Given the description of an element on the screen output the (x, y) to click on. 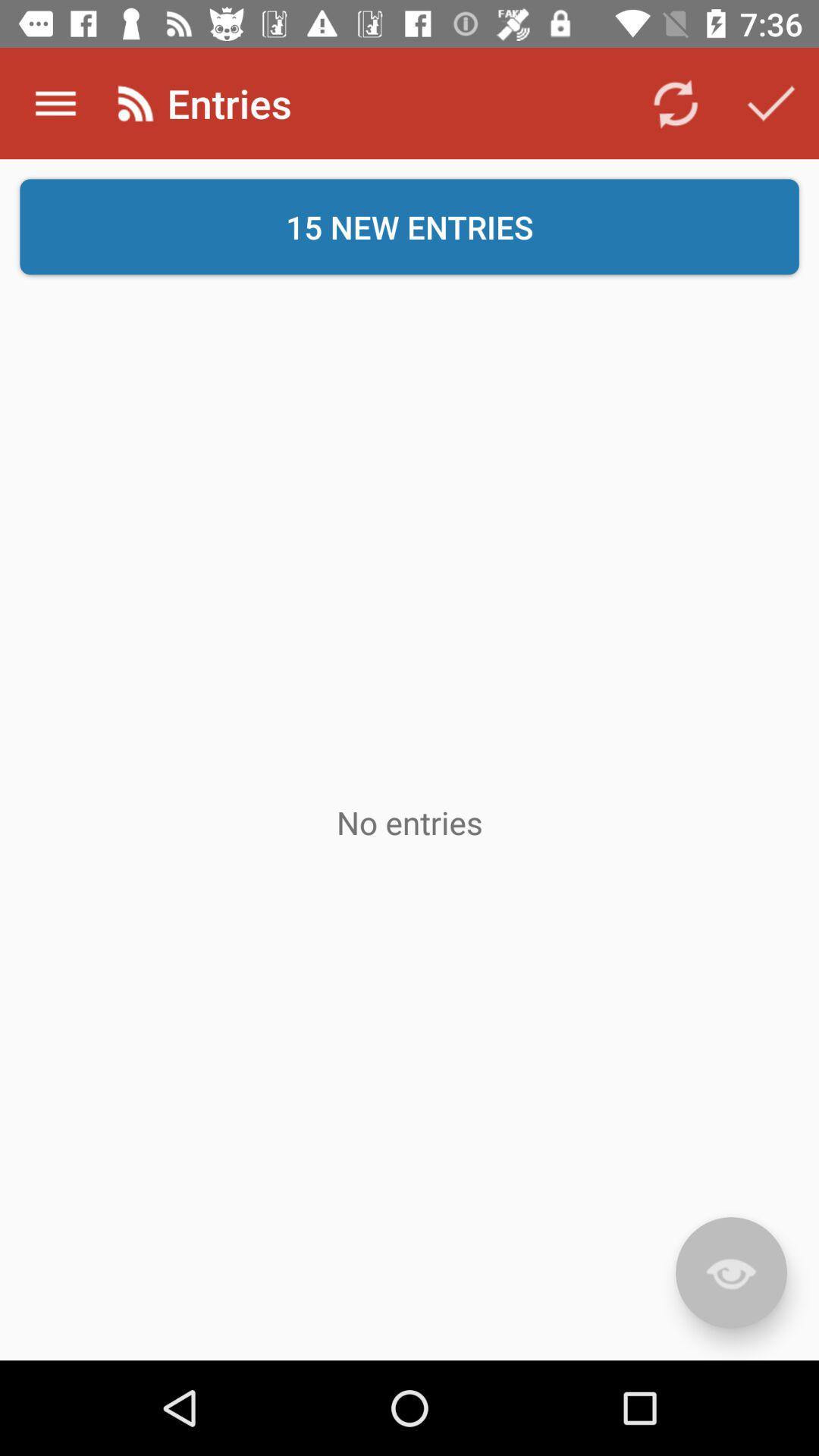
tap the 15 new entries button (409, 226)
